Given the description of an element on the screen output the (x, y) to click on. 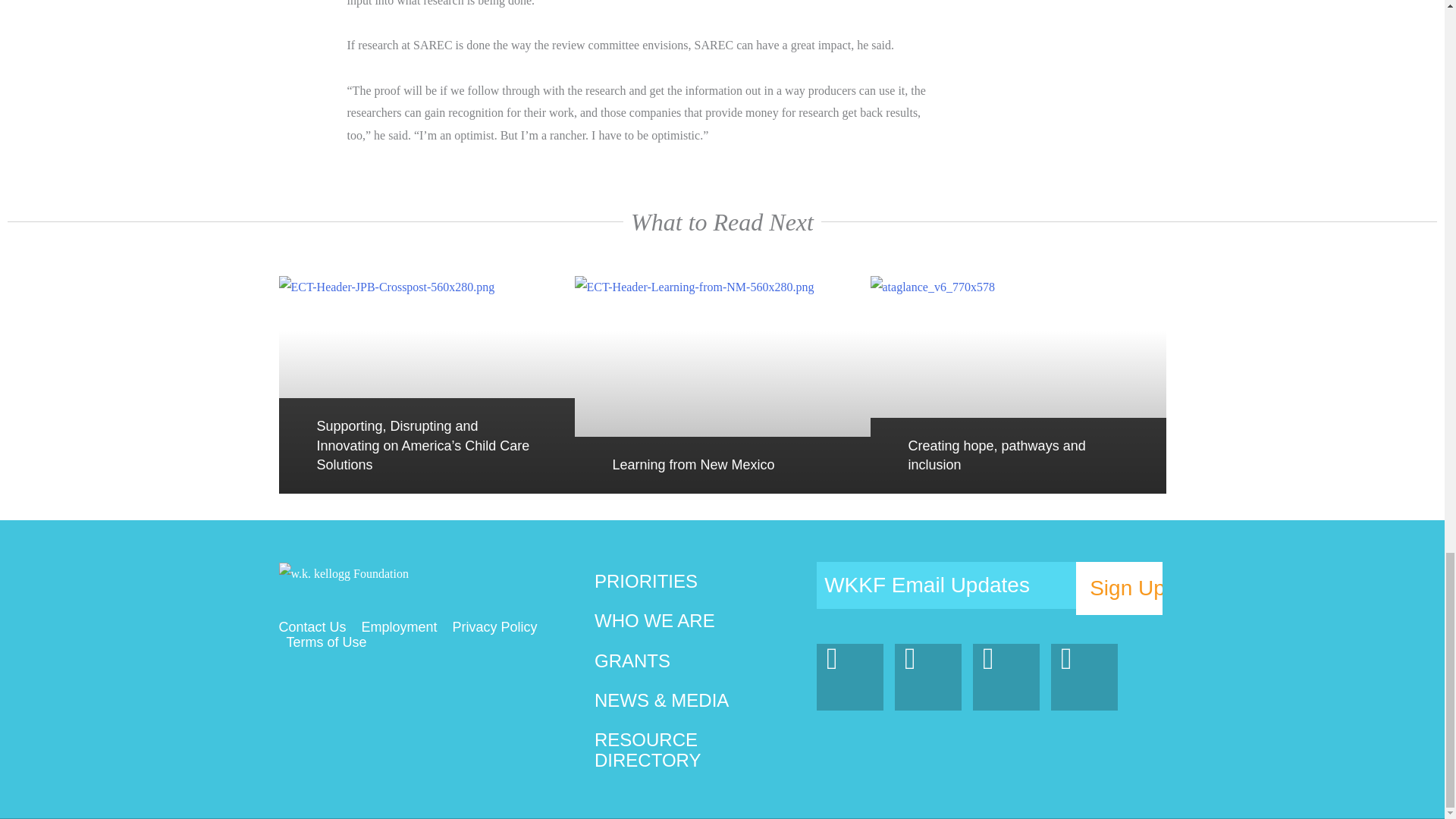
Sign Up (1118, 588)
